Given the description of an element on the screen output the (x, y) to click on. 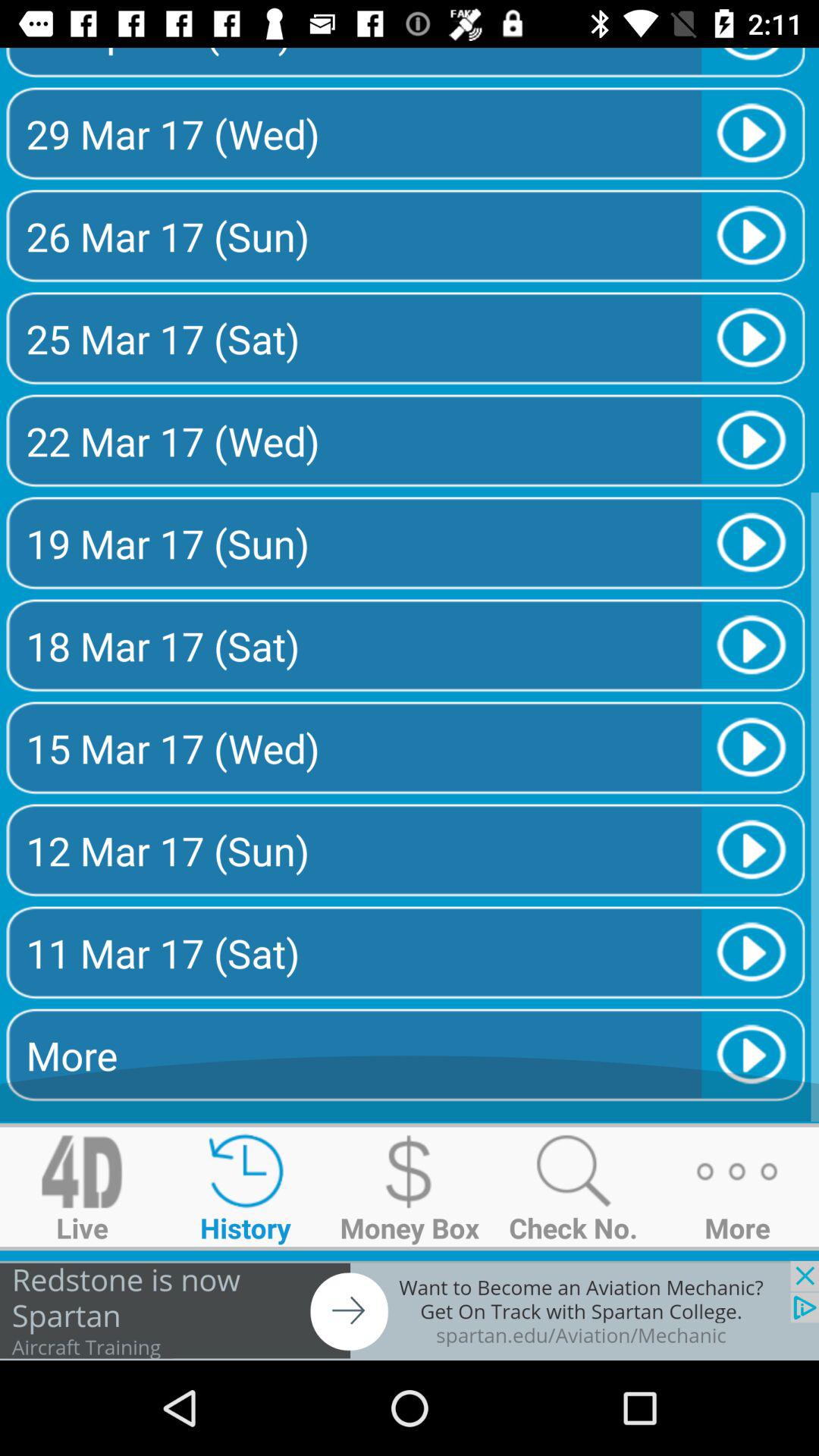
adverts (409, 1310)
